Given the description of an element on the screen output the (x, y) to click on. 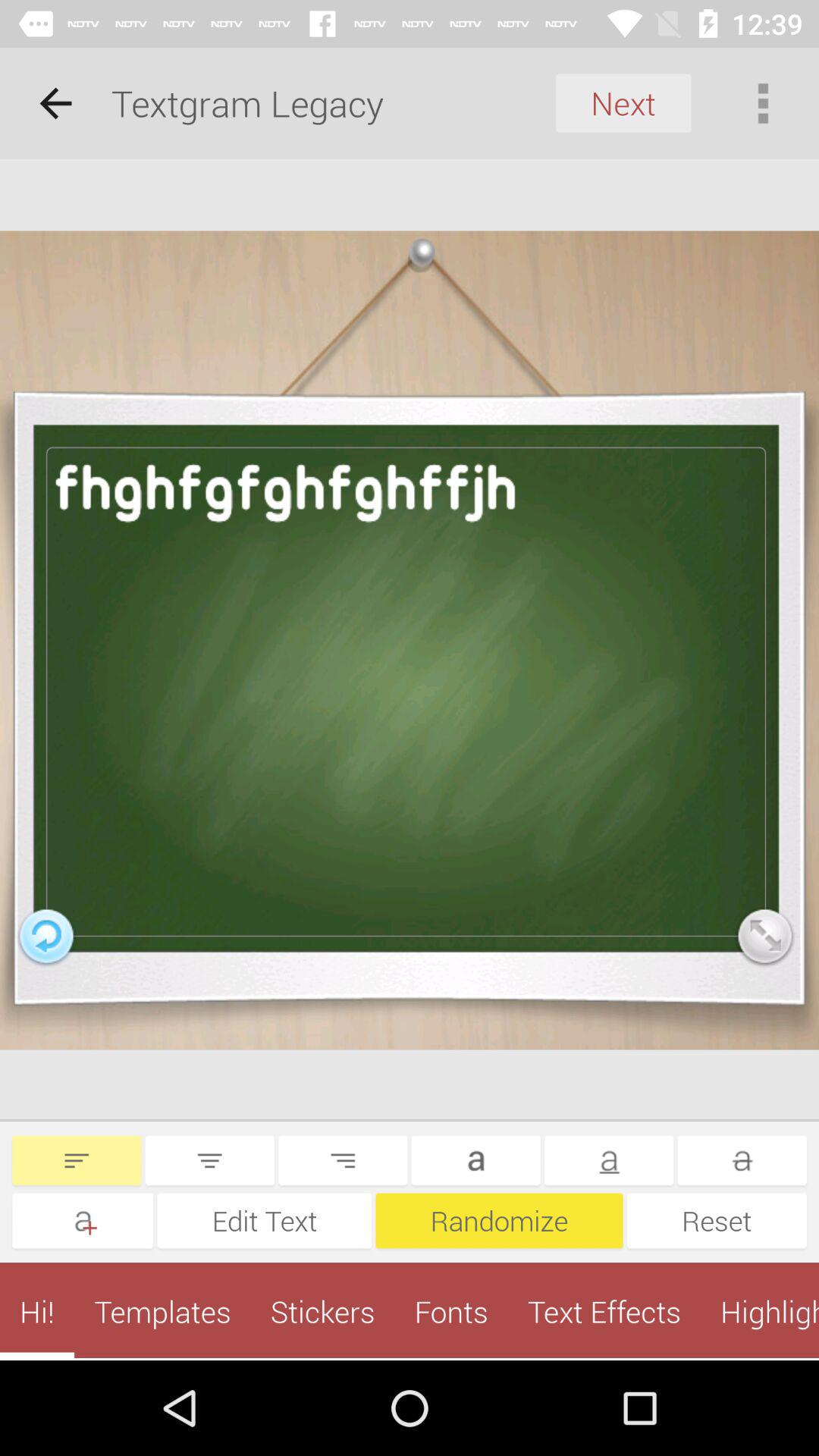
choose item next to stickers app (450, 1311)
